Given the description of an element on the screen output the (x, y) to click on. 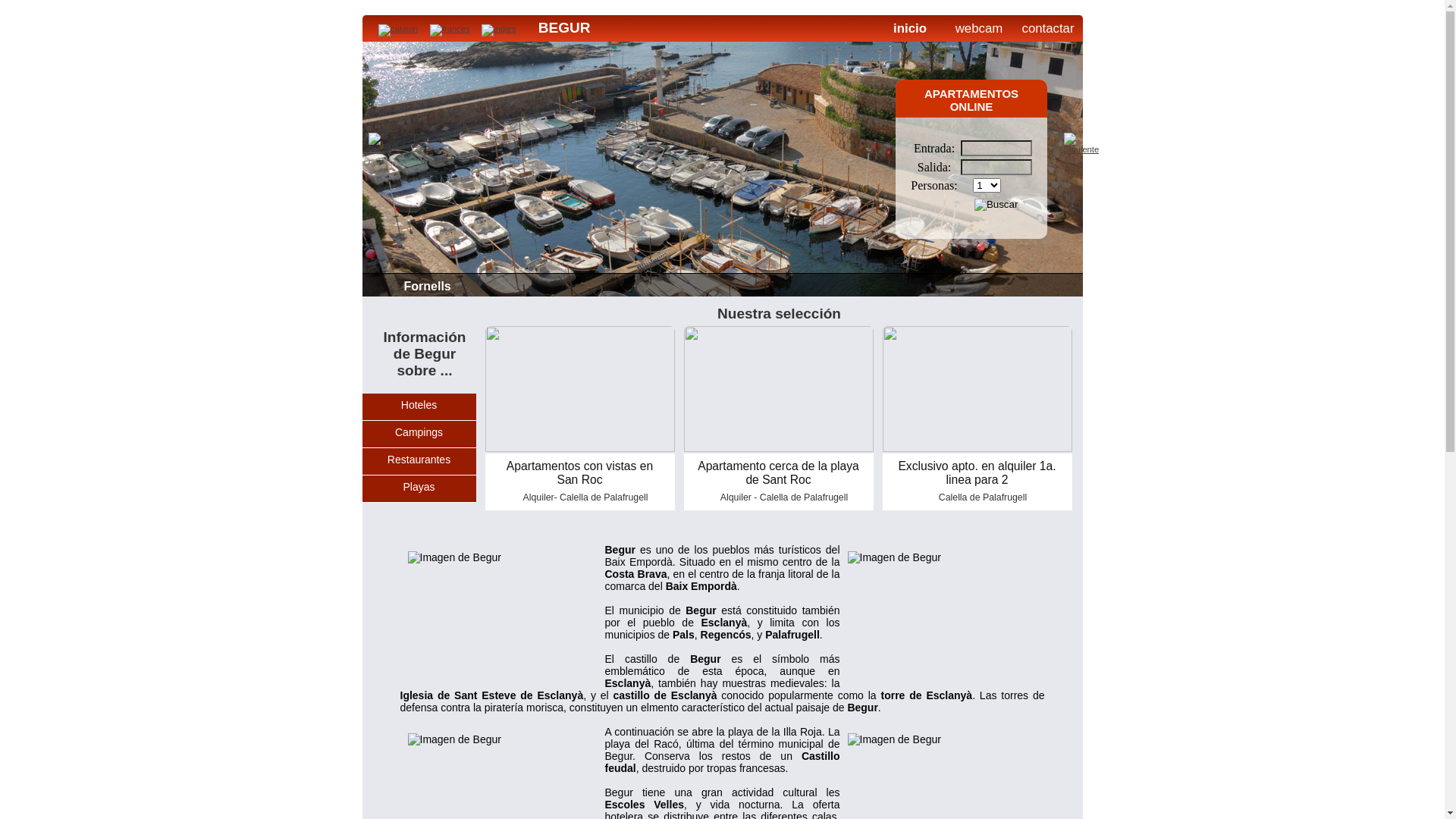
7 Element type: text (862, 312)
Hoteles Element type: text (419, 405)
3 Element type: text (820, 312)
Restaurantes Element type: text (419, 459)
webcam Element type: text (978, 33)
2 Element type: text (809, 312)
6 Element type: text (851, 312)
5 Element type: text (841, 312)
inicio Element type: text (910, 33)
contactar Element type: text (1048, 33)
4 Element type: text (830, 312)
Campings Element type: text (419, 432)
Playas Element type: text (419, 487)
1 Element type: text (798, 312)
